Given the description of an element on the screen output the (x, y) to click on. 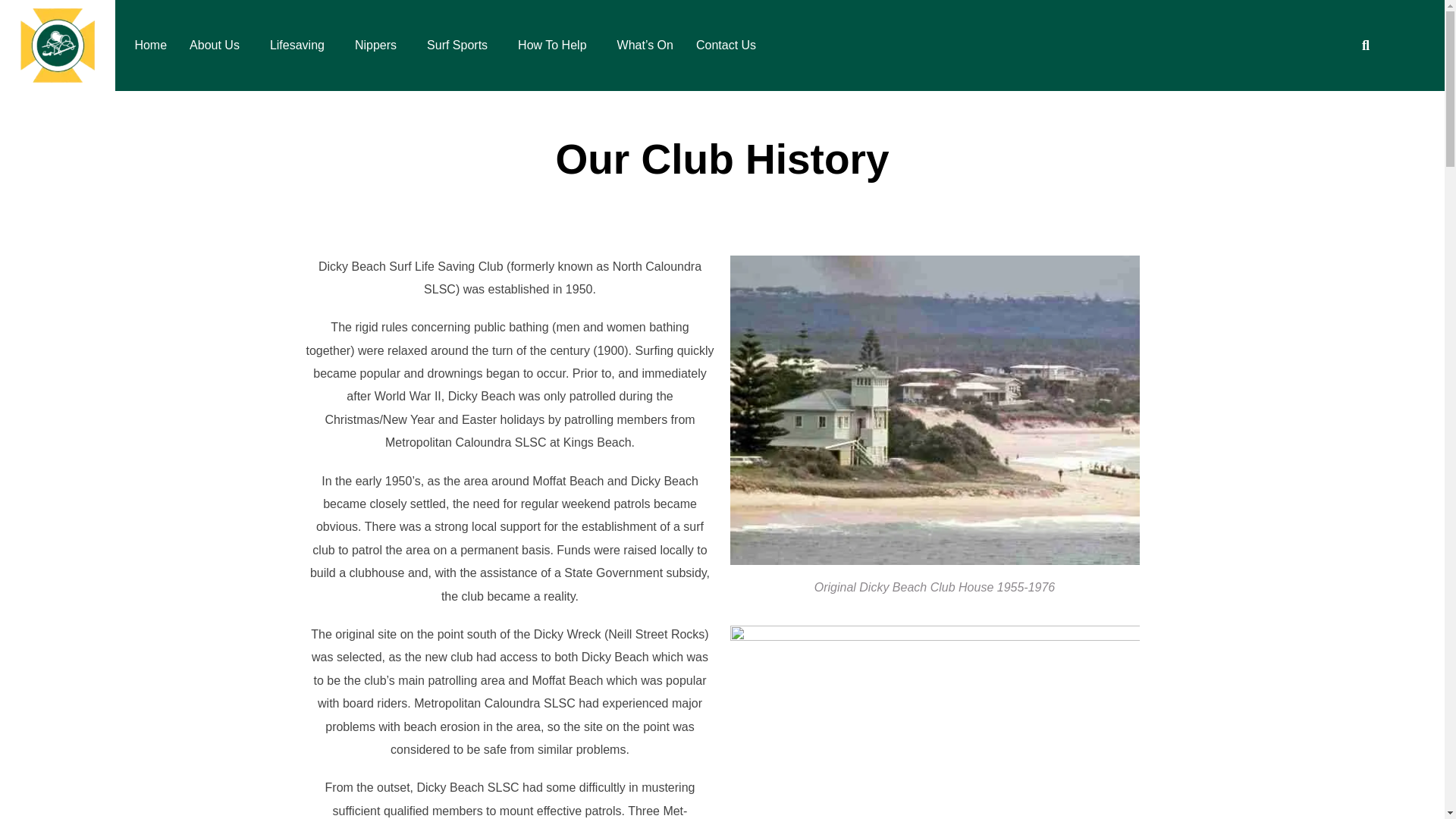
Lifesaving (301, 45)
About Us (218, 45)
Surf Sports (460, 45)
Nippers (378, 45)
Home (149, 45)
